Given the description of an element on the screen output the (x, y) to click on. 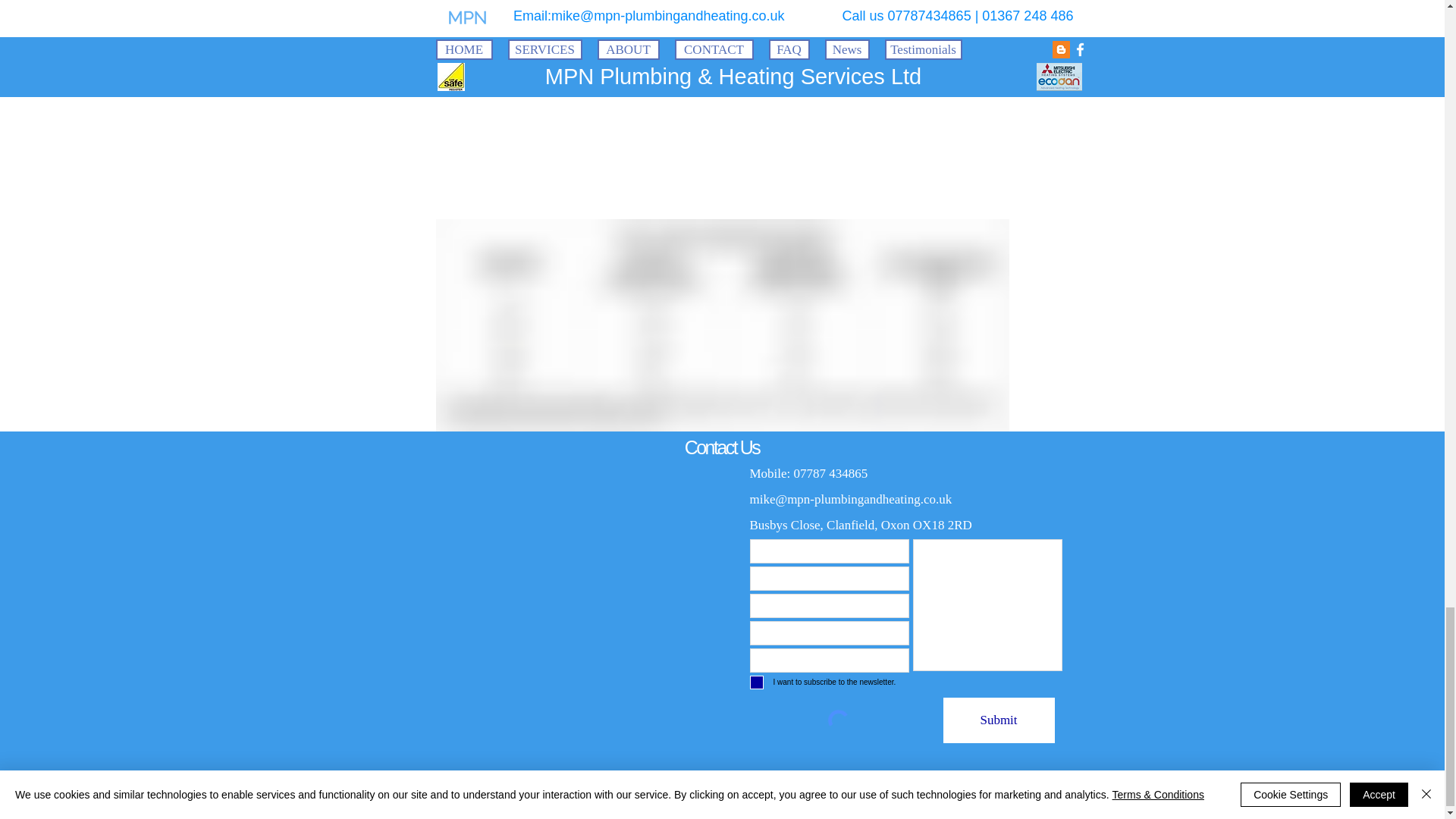
Busbys Close, Clanfield, Oxon OX18 2RD (860, 524)
Peter Newton (881, 793)
Google Maps (587, 552)
Submit (998, 719)
